Given the description of an element on the screen output the (x, y) to click on. 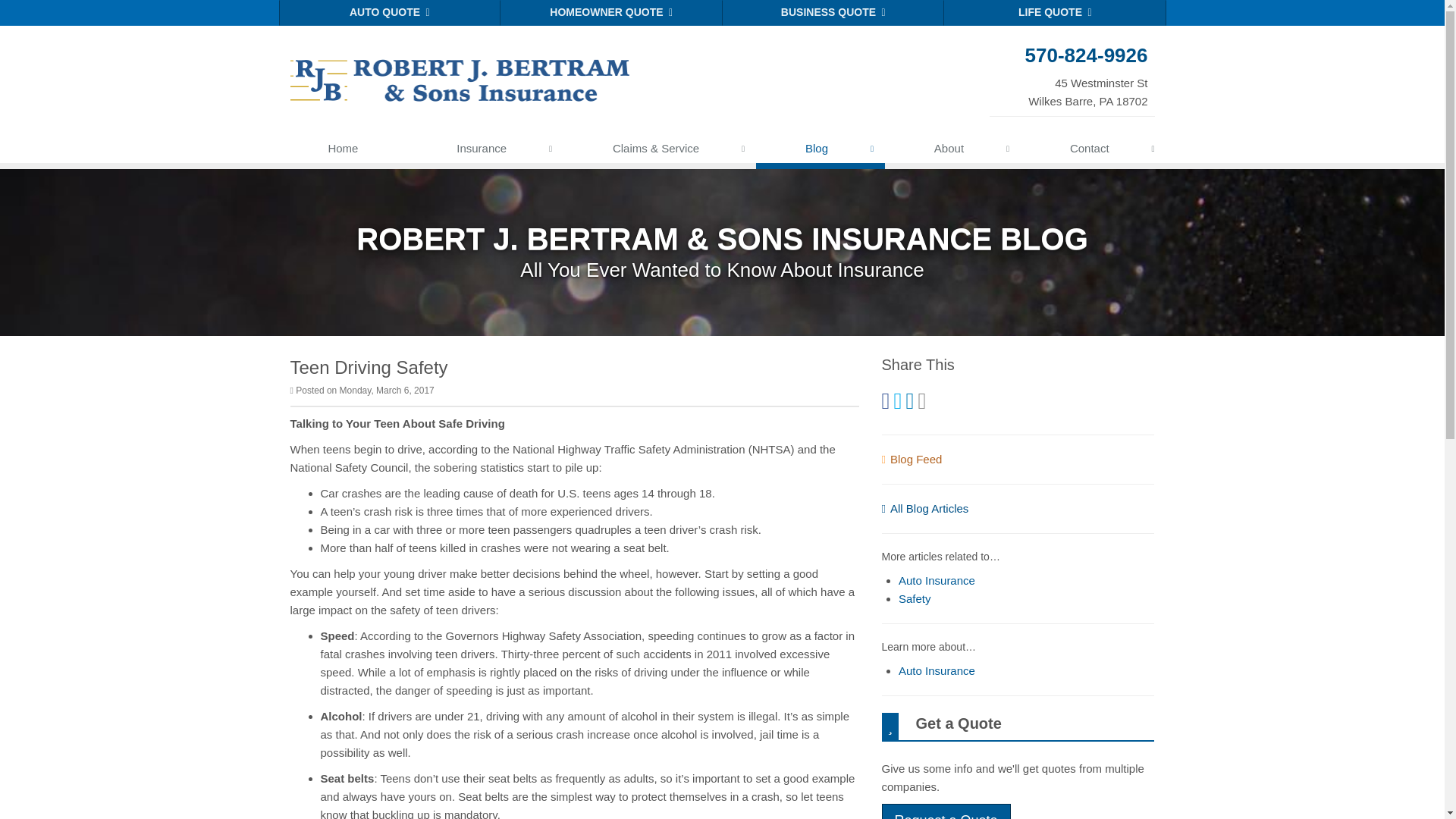
570-824-9926 (1072, 54)
BUSINESS QUOTE (832, 12)
HOMEOWNER QUOTE (611, 12)
AUTO QUOTE (389, 12)
Home (343, 151)
Insurance (485, 151)
LIFE QUOTE (1072, 74)
